Given the description of an element on the screen output the (x, y) to click on. 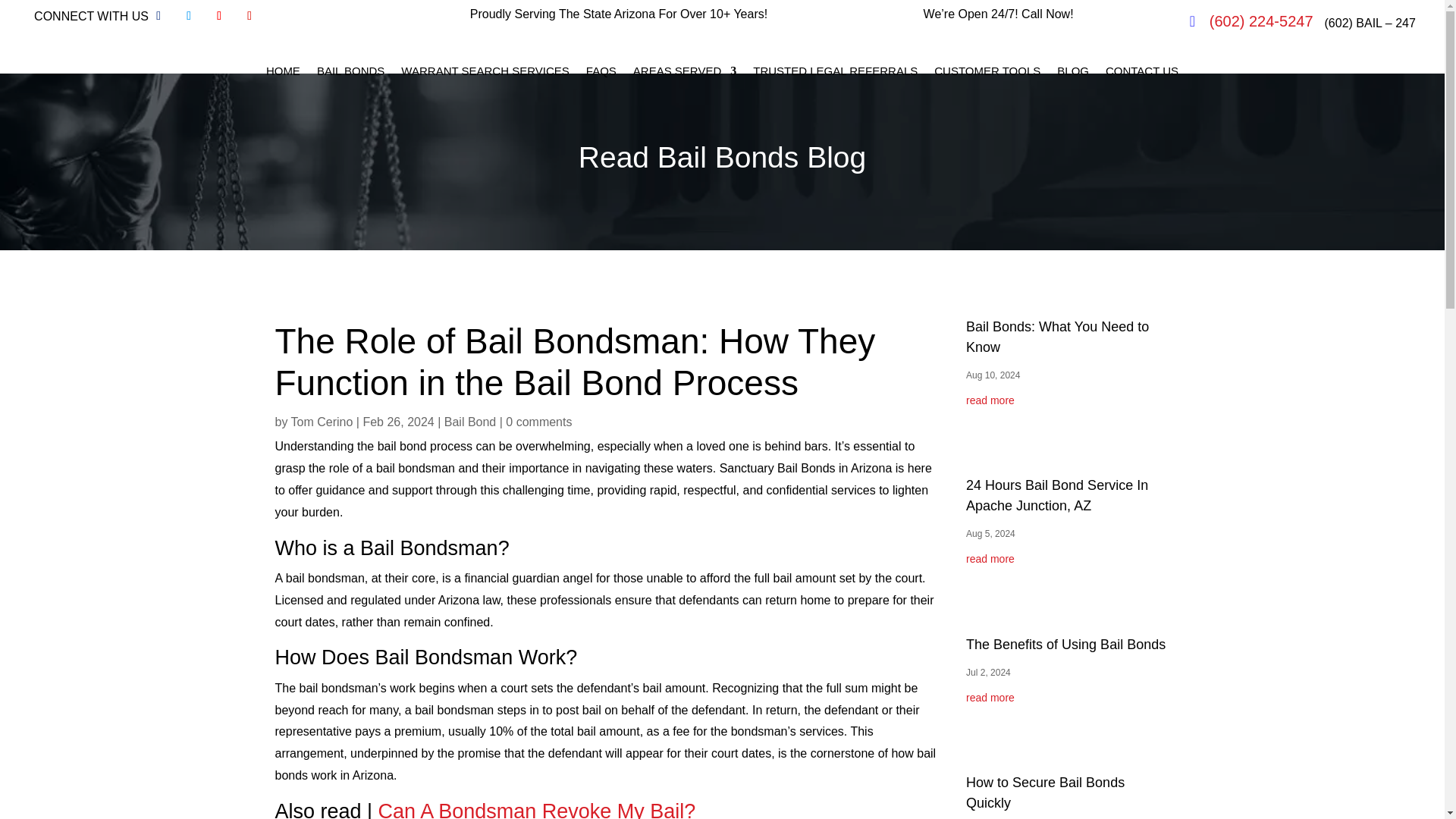
Bail Bonds (350, 70)
Follow on google-plus (249, 15)
AREAS SERVED (684, 70)
Follow on X (188, 15)
Customer Tools (987, 70)
BAIL BONDS (350, 70)
Follow on Youtube (218, 15)
Follow on Facebook (158, 15)
WARRANT SEARCH SERVICES (485, 70)
Contact Sanctuary Bail Bonds (1141, 70)
